Given the description of an element on the screen output the (x, y) to click on. 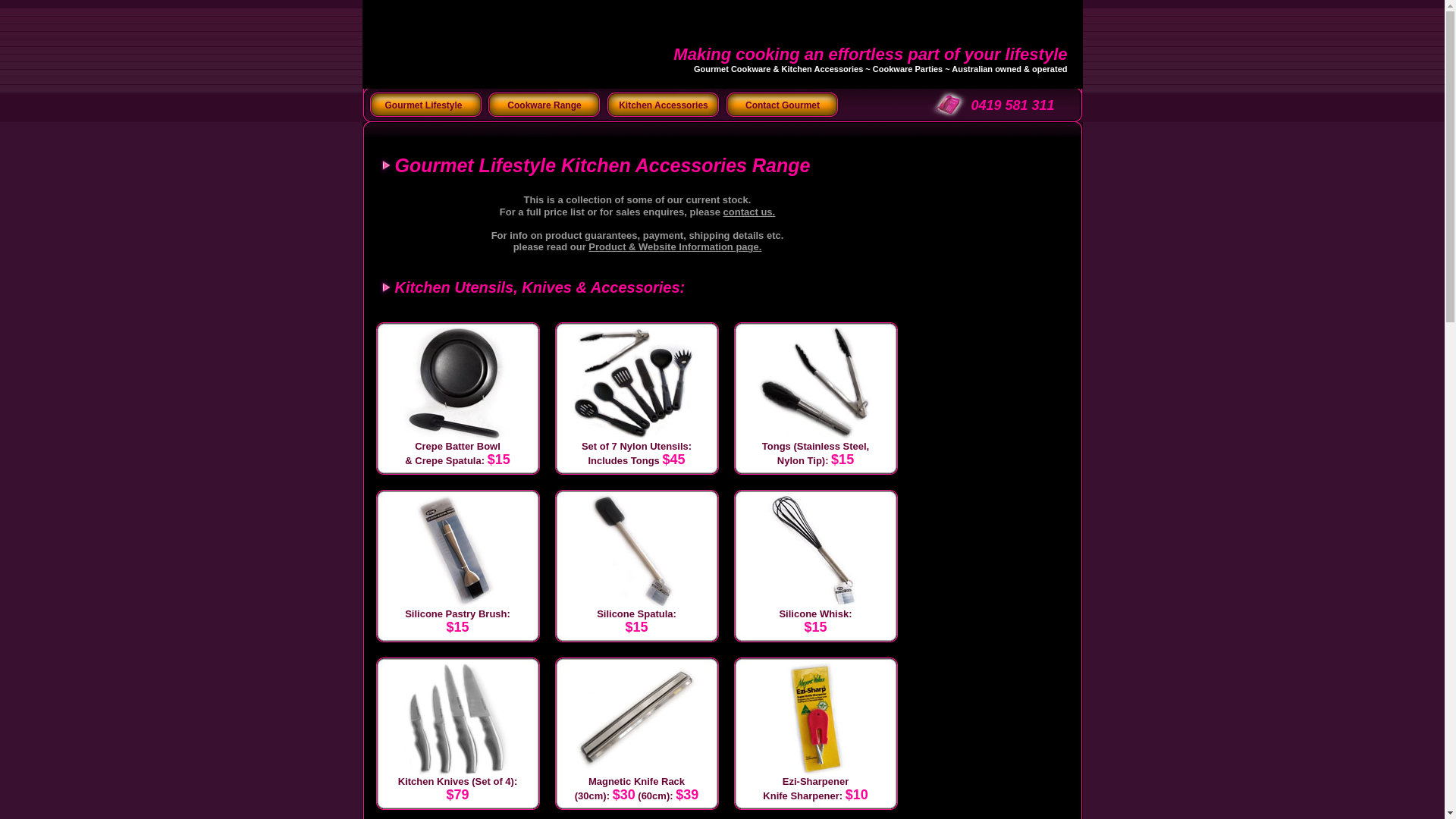
Gourmet Lifestyle Element type: text (423, 105)
Making cooking an effortless part of your lifestyle Element type: text (869, 53)
$15 Element type: text (635, 626)
$10 Element type: text (856, 794)
contact us. Element type: text (749, 211)
$30 Element type: text (623, 794)
Contact Gourmet Element type: text (782, 105)
$15 Element type: text (498, 459)
$15 Element type: text (814, 626)
Cookware Range Element type: text (544, 105)
Product & Website Information page. Element type: text (674, 246)
$15 Element type: text (842, 459)
Kitchen Accessories Element type: text (662, 105)
$15 Element type: text (456, 626)
$45 Element type: text (673, 459)
$79 Element type: text (456, 794)
$39 Element type: text (686, 794)
